Given the description of an element on the screen output the (x, y) to click on. 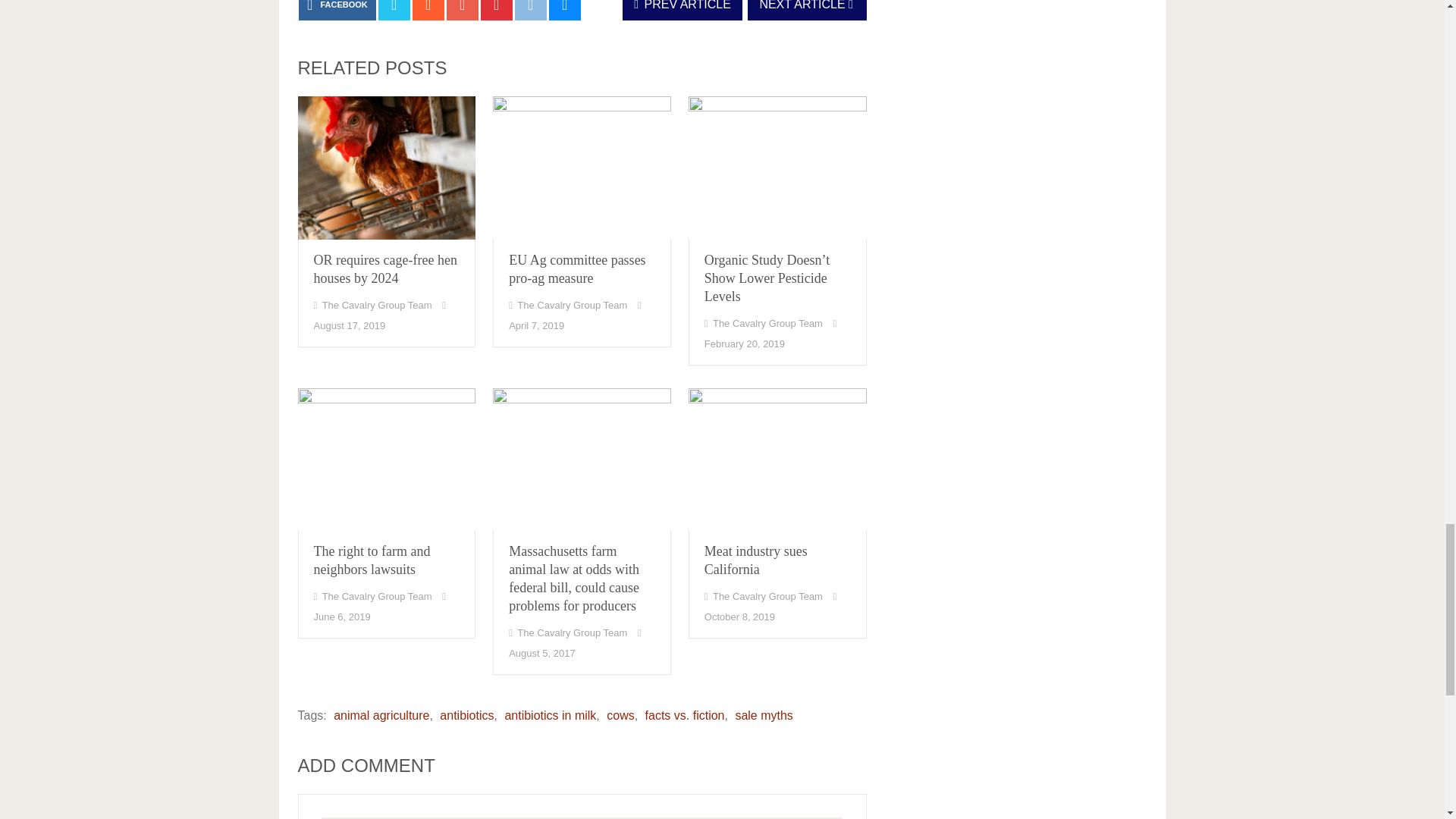
OR requires cage-free hen houses by 2024 (385, 268)
Posts by The Cavalry Group Team (571, 305)
The right to farm and neighbors lawsuits (386, 459)
OR requires cage-free hen houses by 2024 (386, 167)
Posts by The Cavalry Group Team (767, 323)
EU Ag committee passes pro-ag measure (576, 268)
Posts by The Cavalry Group Team (376, 305)
EU Ag committee passes pro-ag measure (582, 167)
